Given the description of an element on the screen output the (x, y) to click on. 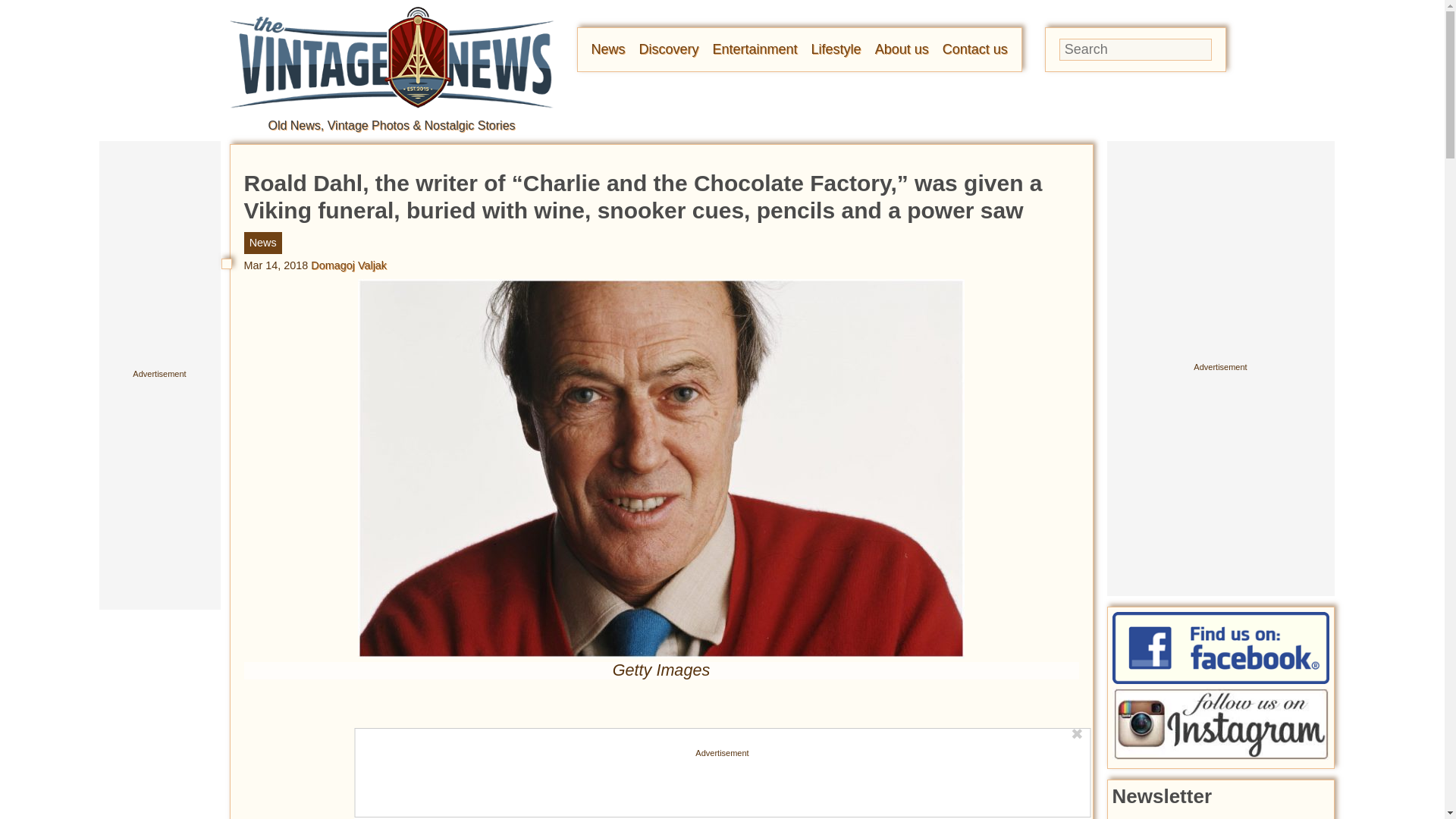
Entertainment (755, 48)
Discovery (668, 48)
About us (901, 48)
Lifestyle (835, 48)
News (608, 48)
Contact us (974, 48)
